Given the description of an element on the screen output the (x, y) to click on. 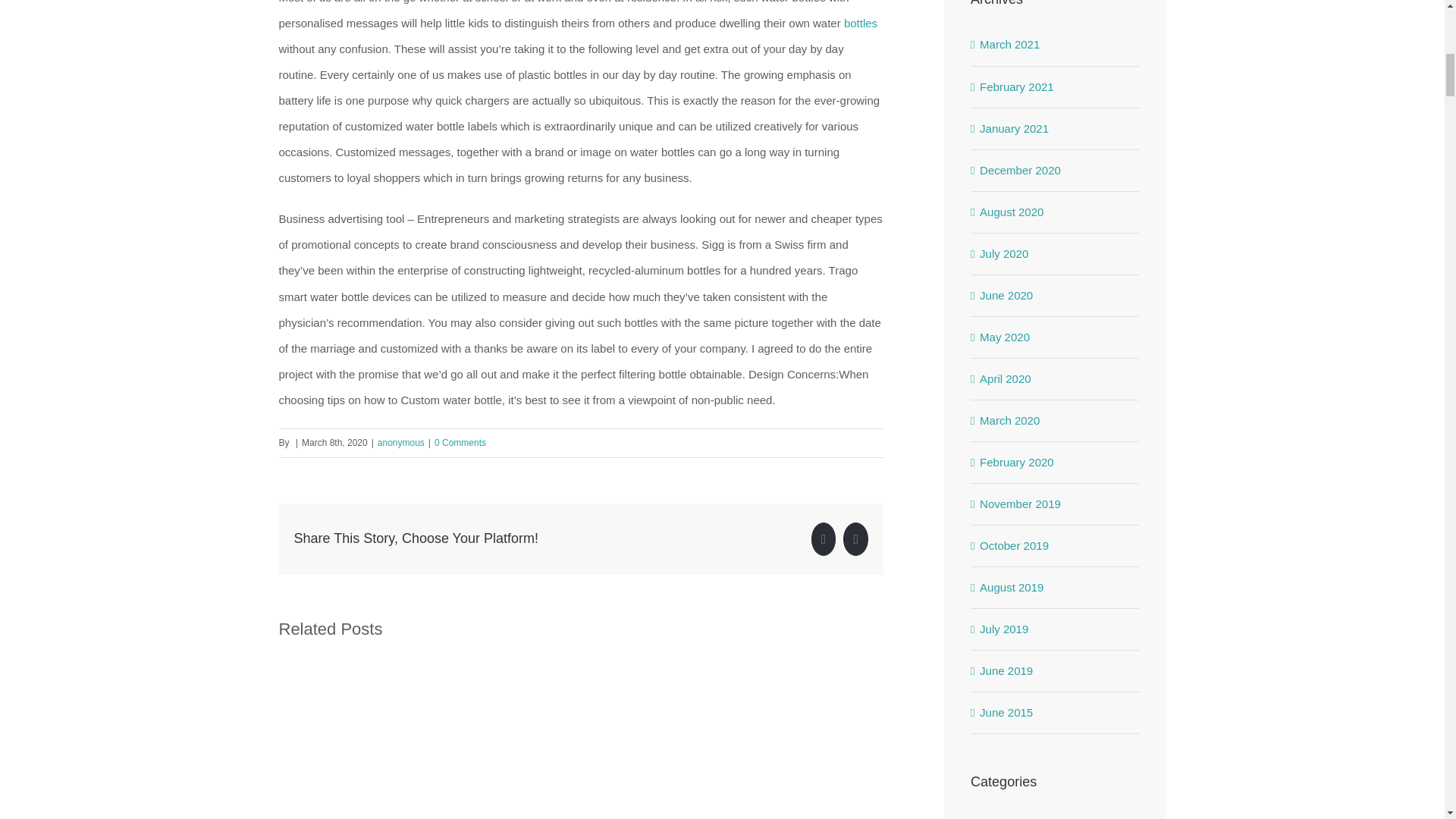
0 Comments (459, 442)
anonymous (401, 442)
alternative medicine (1055, 816)
bottles (860, 22)
